Given the description of an element on the screen output the (x, y) to click on. 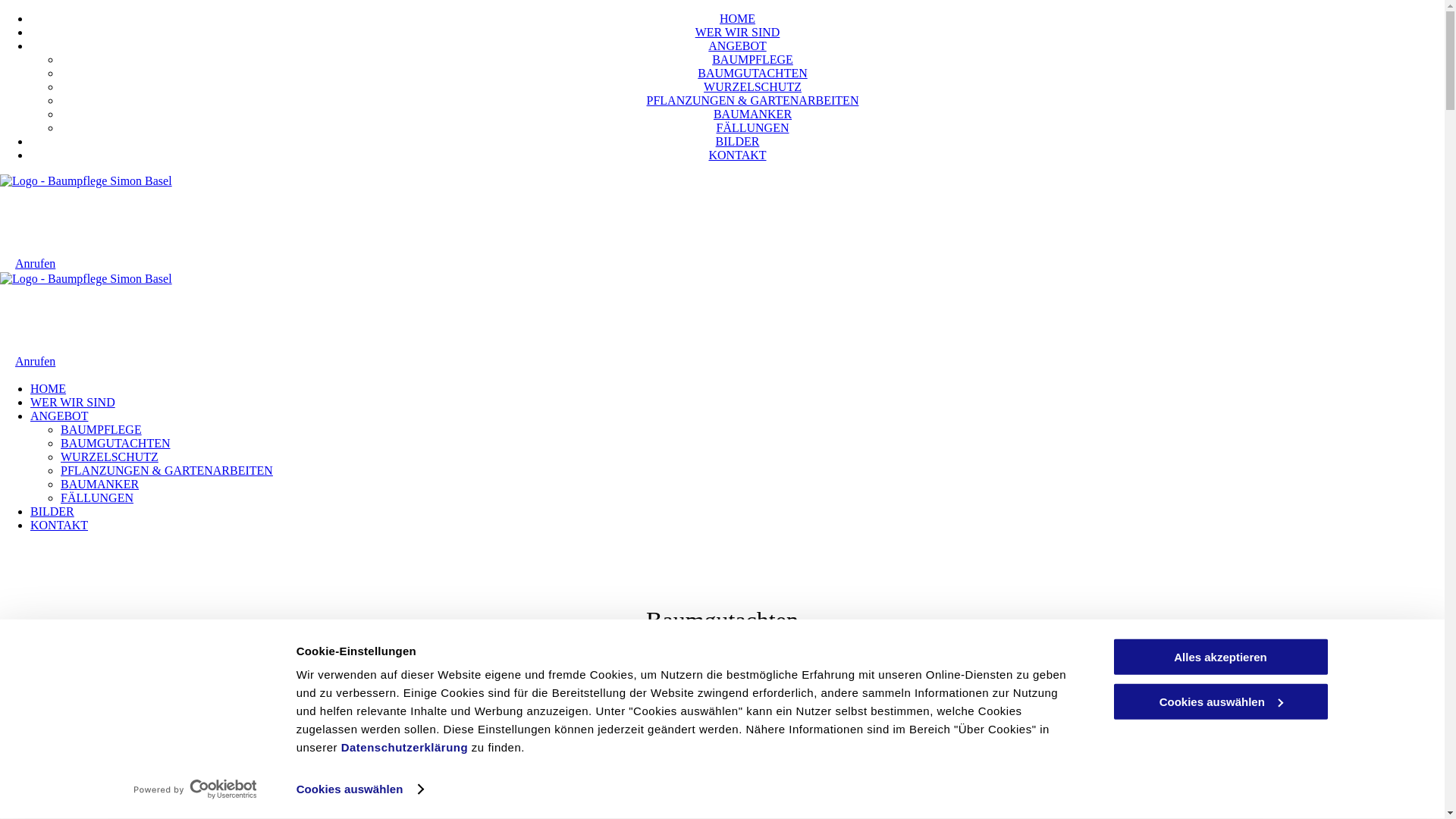
ANGEBOT Element type: text (736, 45)
BAUMGUTACHTEN Element type: text (752, 72)
HOME Element type: text (47, 388)
WURZELSCHUTZ Element type: text (752, 86)
WER WIR SIND Element type: text (72, 401)
Anrufen Element type: text (27, 360)
BAUMPFLEGE Element type: text (752, 59)
BILDER Element type: text (52, 511)
BAUMANKER Element type: text (99, 483)
BAUMGUTACHTEN Element type: text (115, 442)
Baumpflege Simon Element type: text (79, 317)
WER WIR SIND Element type: text (737, 31)
Anrufen Element type: text (27, 263)
Baumpflege Simon Element type: text (79, 219)
PFLANZUNGEN & GARTENARBEITEN Element type: text (752, 100)
KONTAKT Element type: text (736, 154)
ANGEBOT Element type: text (58, 415)
BAUMANKER Element type: text (752, 113)
KONTAKT Element type: text (58, 524)
Alles akzeptieren Element type: text (1219, 656)
BAUMPFLEGE Element type: text (100, 429)
BILDER Element type: text (737, 140)
PFLANZUNGEN & GARTENARBEITEN Element type: text (166, 470)
HOME Element type: text (737, 18)
WURZELSCHUTZ Element type: text (109, 456)
